Given the description of an element on the screen output the (x, y) to click on. 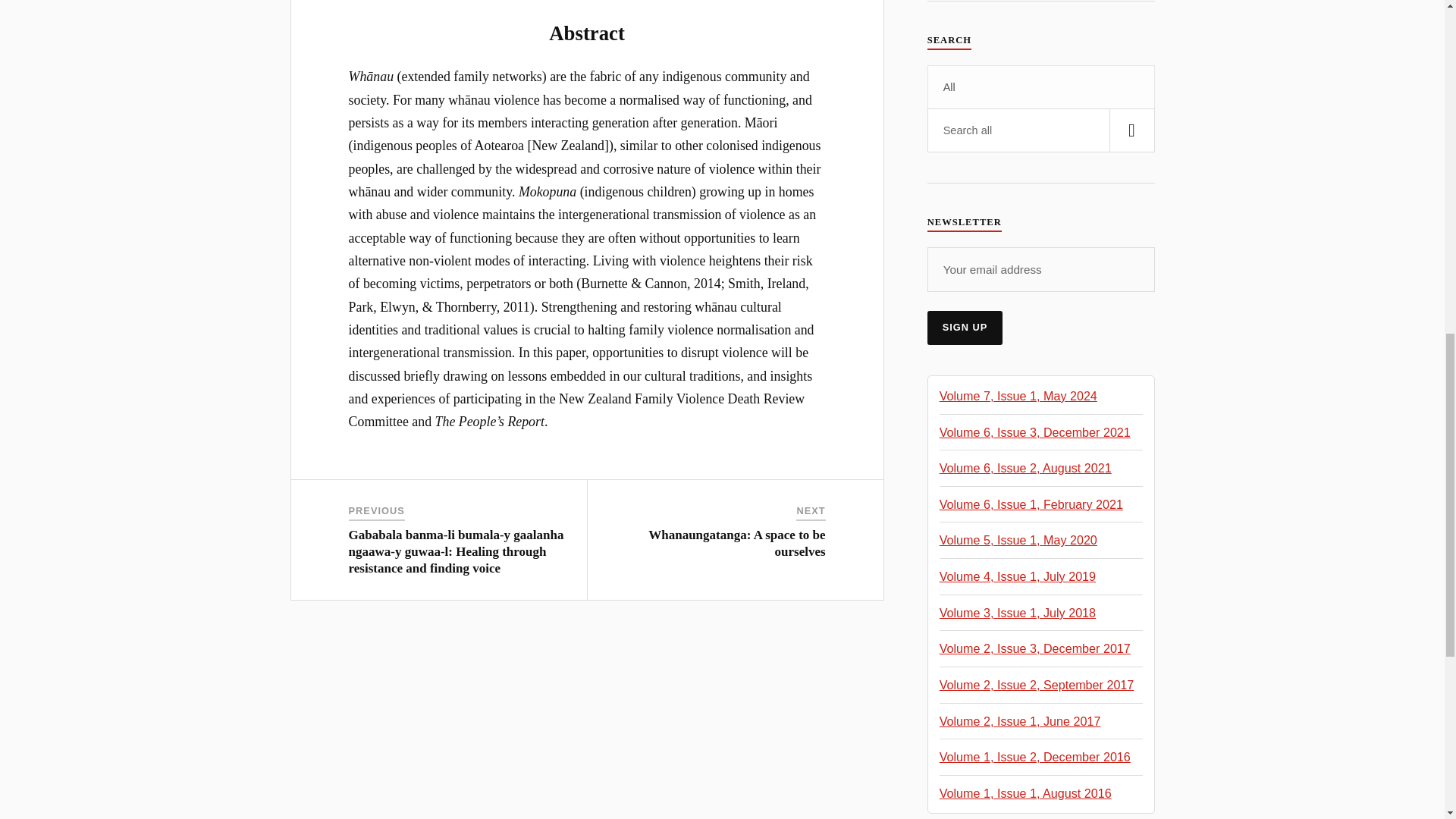
Next post: Whanaungatanga: A space to be ourselves (736, 542)
Sign up (965, 327)
